Given the description of an element on the screen output the (x, y) to click on. 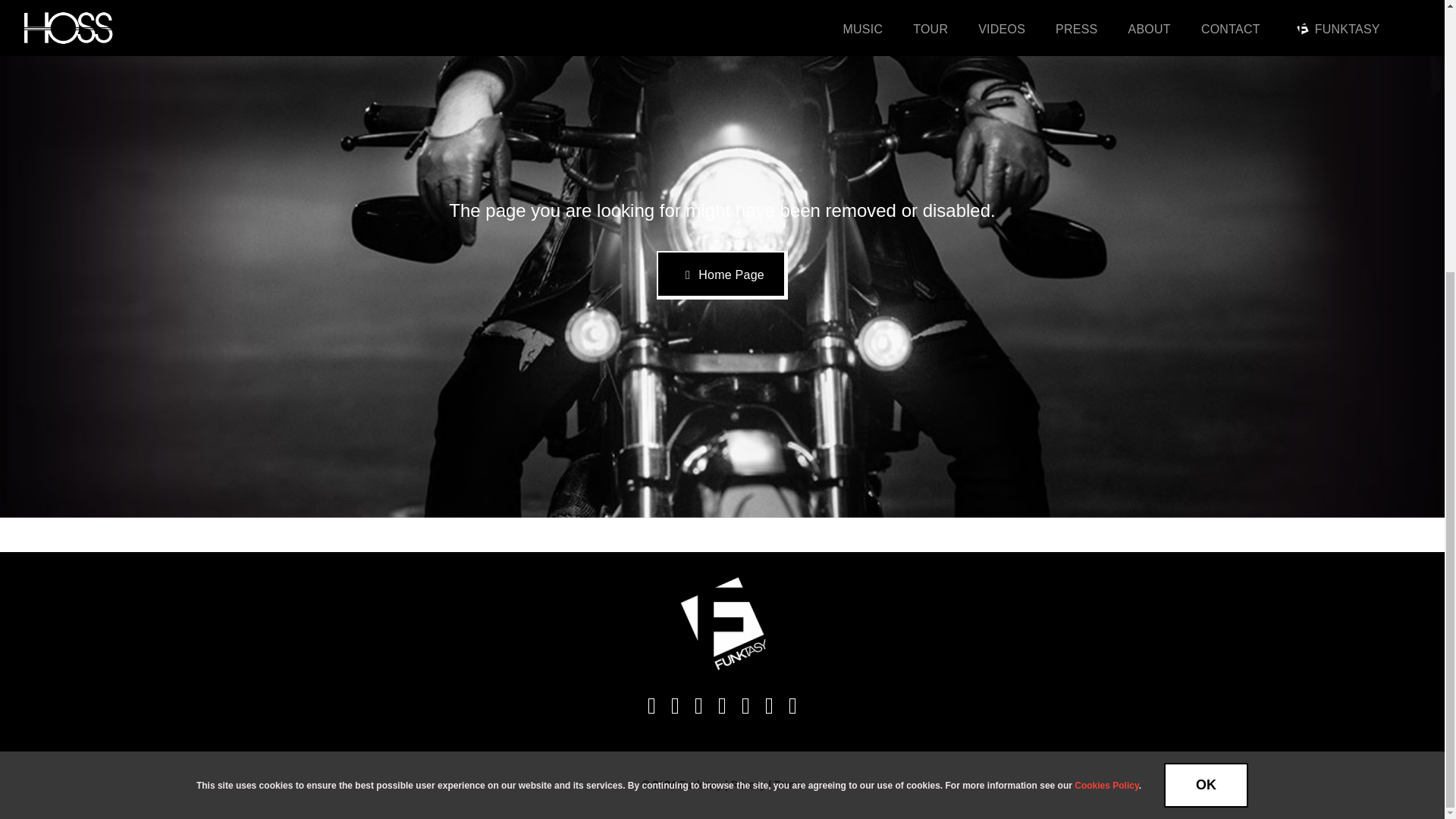
Funktasy (699, 784)
Cookies Policy (1106, 385)
Home Page (721, 274)
Terms (788, 784)
Privacy (747, 784)
